Given the description of an element on the screen output the (x, y) to click on. 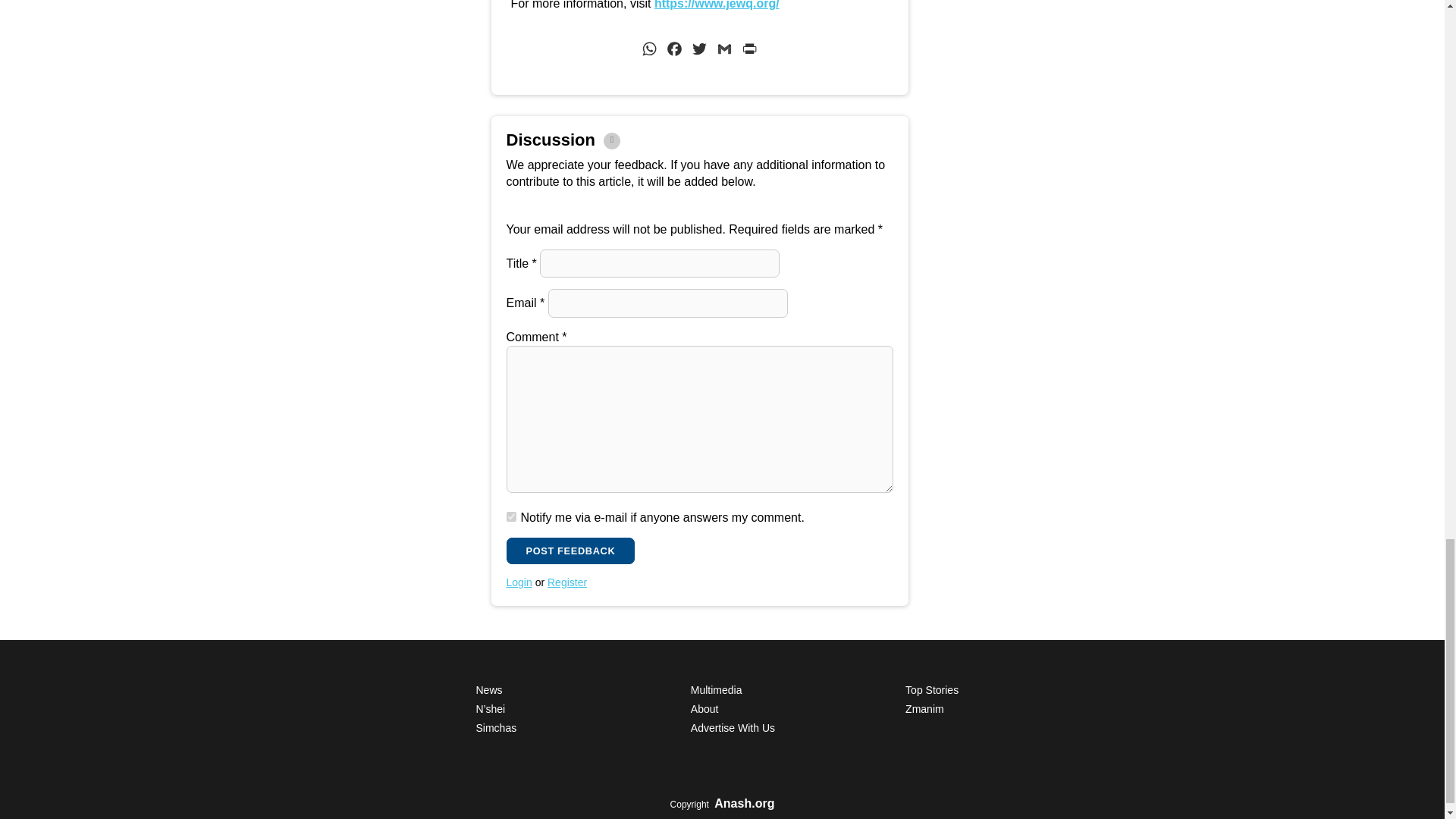
Gmail (723, 51)
on (511, 516)
Facebook (674, 51)
Post Feedback (570, 550)
WhatsApp (649, 51)
Twitter (699, 51)
Print (748, 51)
